Given the description of an element on the screen output the (x, y) to click on. 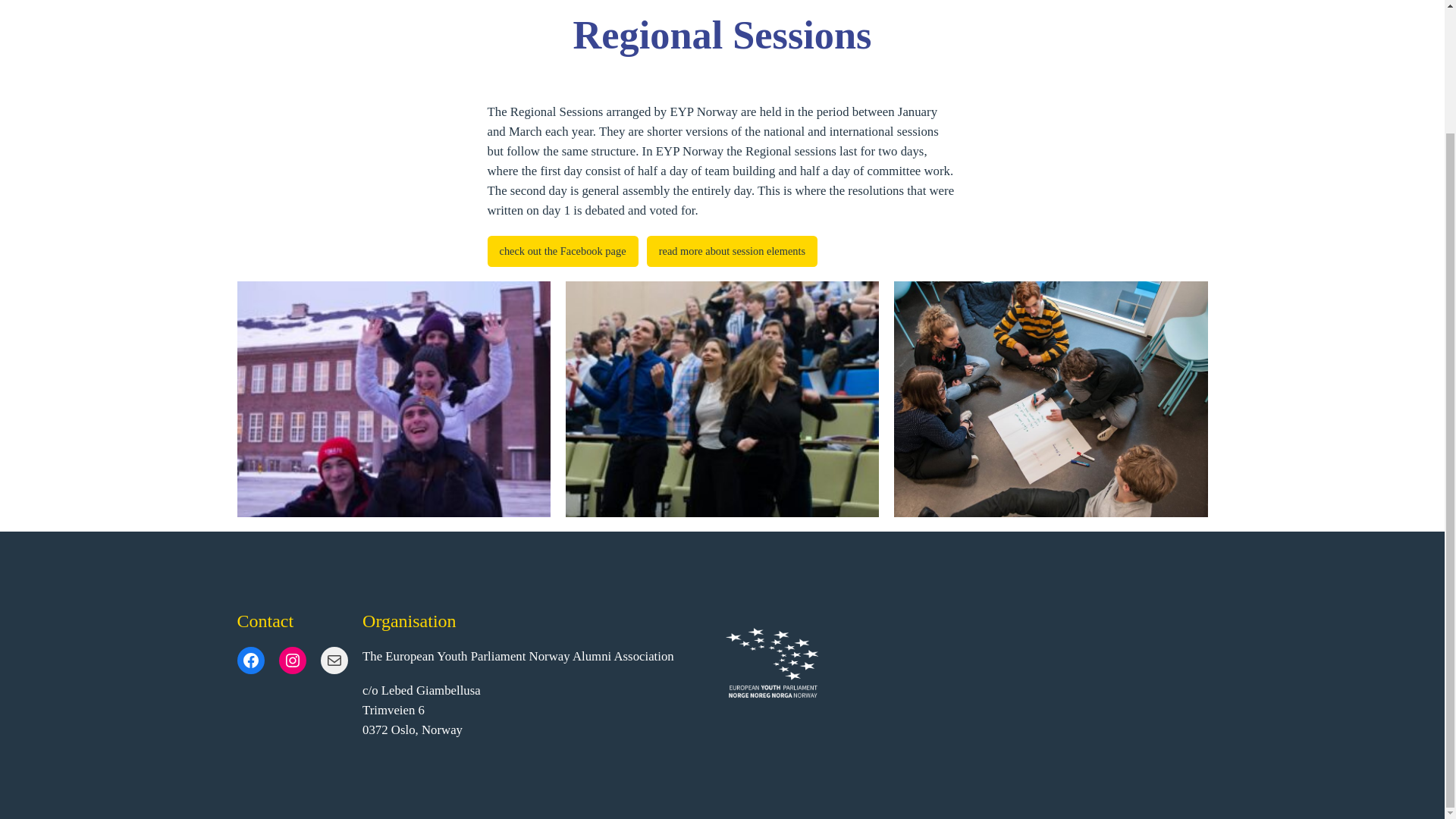
read more about session elements (731, 251)
Mail (333, 660)
Instagram (292, 660)
Facebook (249, 660)
check out the Facebook page (561, 251)
